Given the description of an element on the screen output the (x, y) to click on. 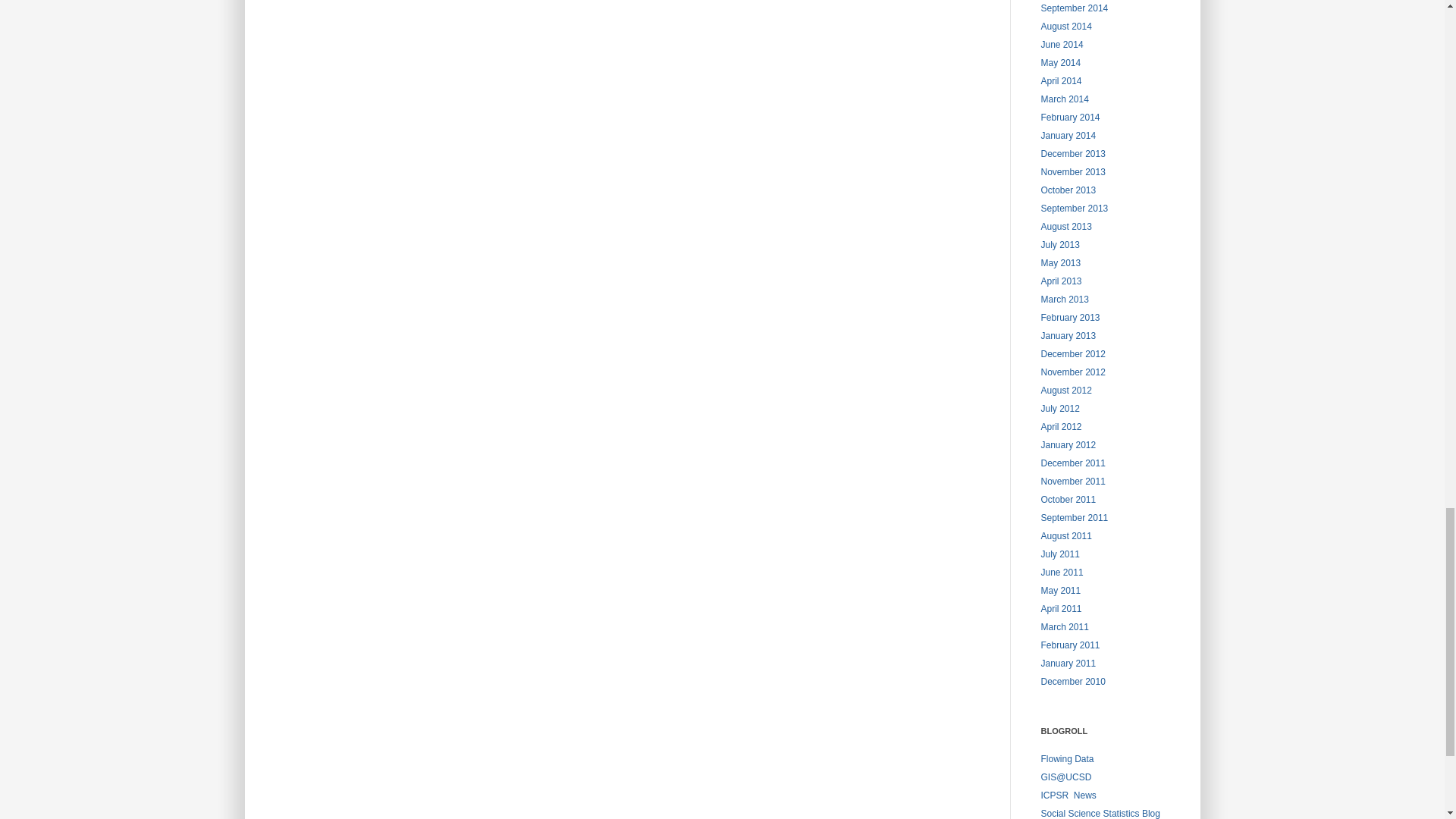
Data Visualization (1067, 758)
